Given the description of an element on the screen output the (x, y) to click on. 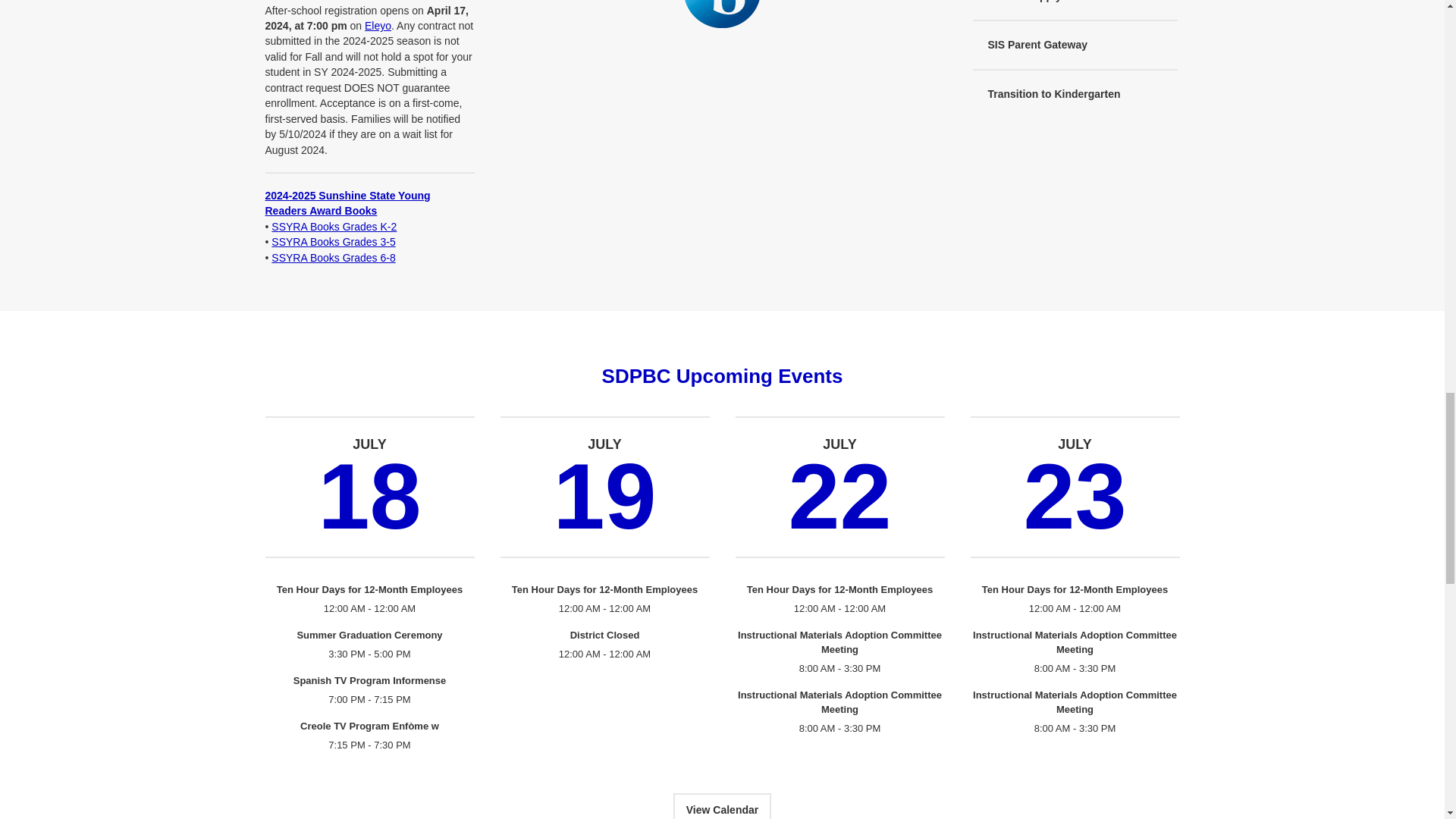
Opens School Supply page (1074, 7)
